Given the description of an element on the screen output the (x, y) to click on. 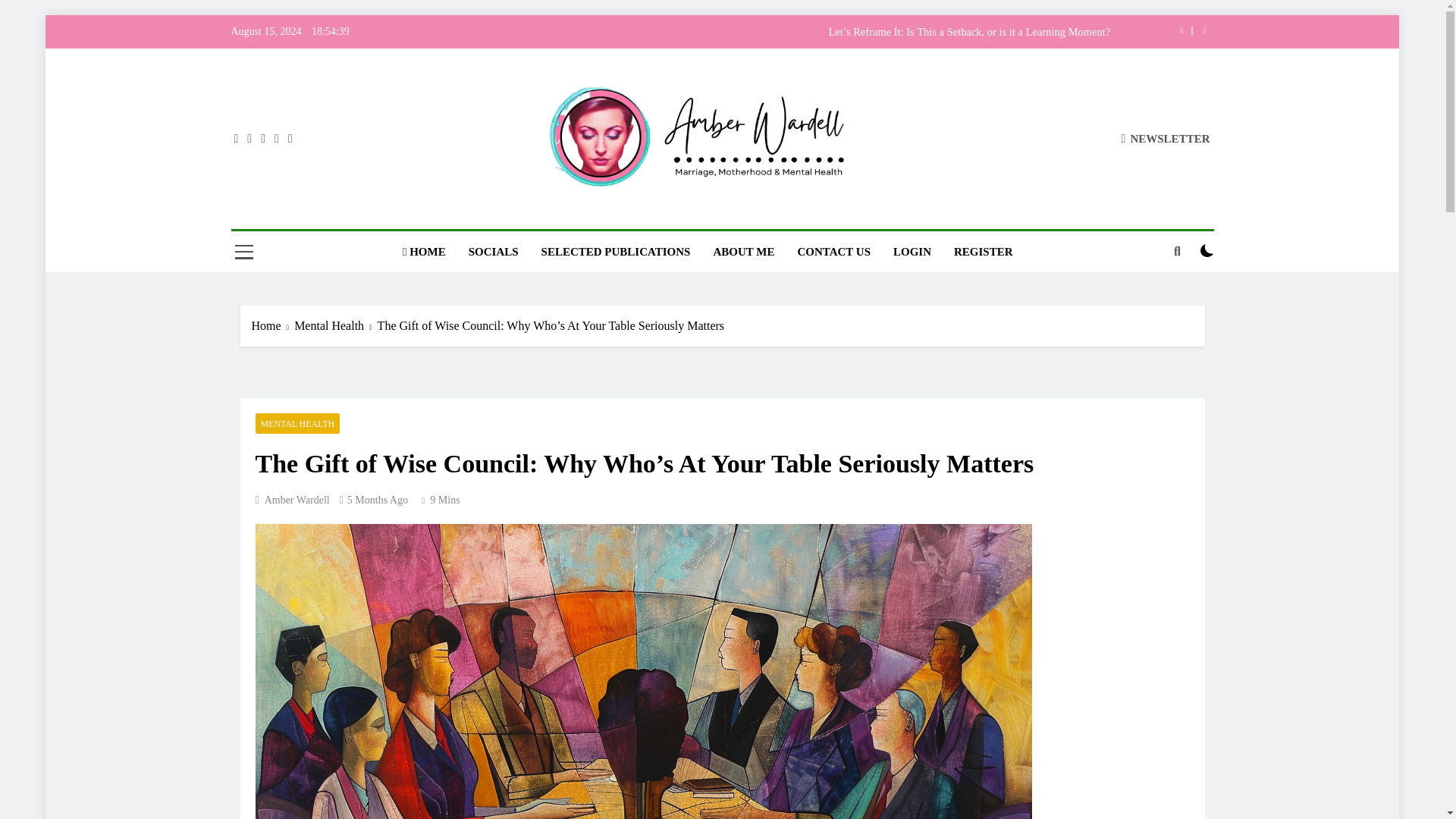
HOME (424, 250)
SELECTED PUBLICATIONS (615, 250)
CONTACT US (834, 250)
SOCIALS (493, 250)
LOGIN (912, 250)
REGISTER (983, 250)
ABOUT ME (743, 250)
Mental Health (335, 325)
on (1206, 250)
